Given the description of an element on the screen output the (x, y) to click on. 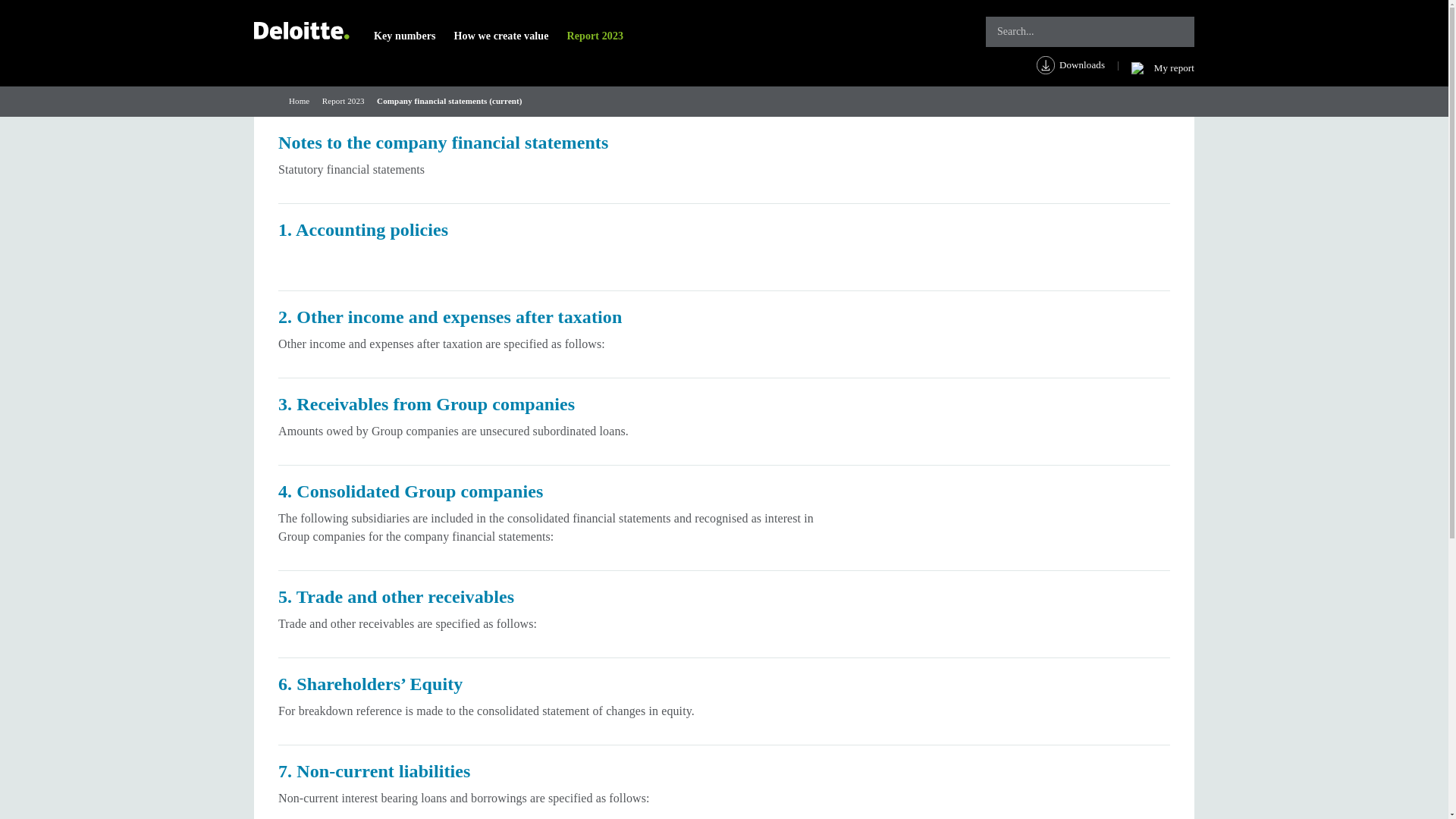
4. Consolidated Group companies (724, 518)
7. Non-current liabilities (724, 782)
1. Accounting policies (724, 247)
5. Trade and other receivables (724, 614)
Home (298, 101)
Downloads (1083, 65)
My report (1162, 68)
Report 2023 (343, 101)
Key numbers (404, 36)
2. Other income and expenses after taxation (724, 334)
